Given the description of an element on the screen output the (x, y) to click on. 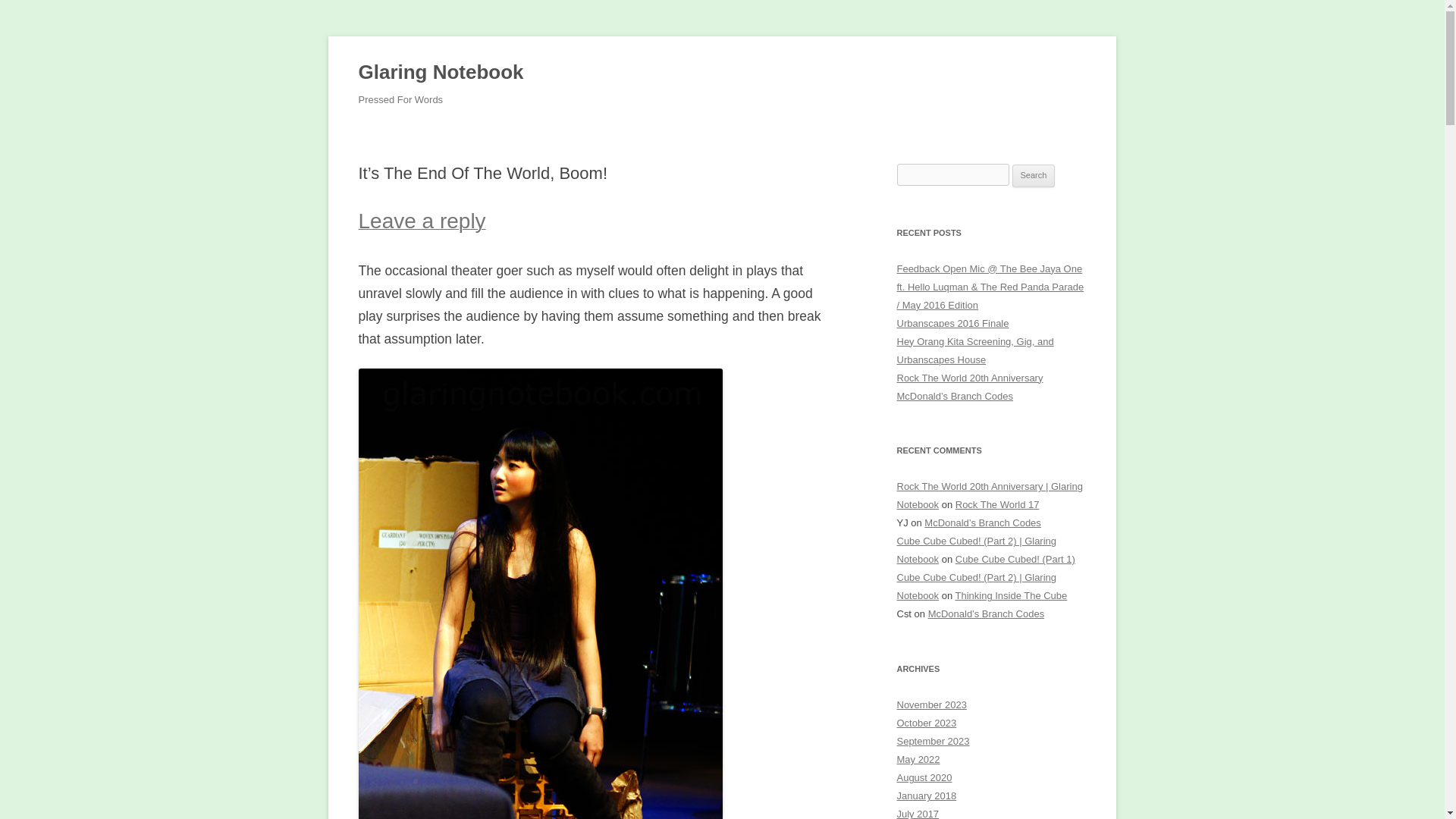
Rock The World 20th Anniversary (969, 378)
November 2023 (931, 704)
August 2020 (924, 777)
Search (1033, 175)
Rock The World 17 (997, 504)
October 2023 (926, 722)
September 2023 (932, 740)
Thinking Inside The Cube (1011, 595)
Leave a reply (421, 224)
January 2018 (926, 795)
Glaring Notebook (440, 72)
Hey Orang Kita Screening, Gig, and Urbanscapes House (974, 350)
May 2022 (917, 758)
Urbanscapes 2016 Finale (952, 323)
